Given the description of an element on the screen output the (x, y) to click on. 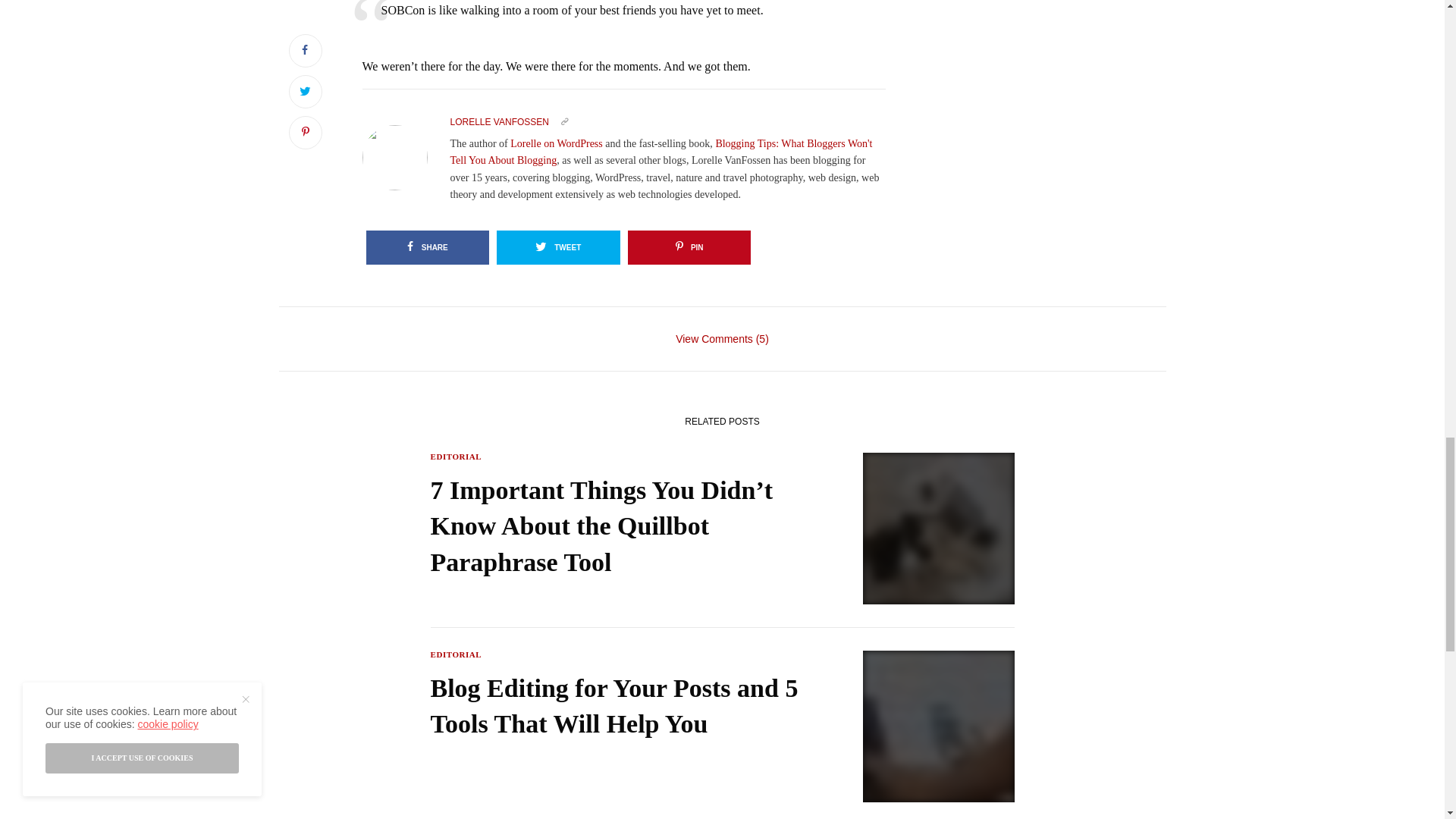
Blog Herald Bookstore - Blogging Tips Book (660, 152)
LORELLE VANFOSSEN (499, 121)
Lorelle on WordPress (556, 143)
Lorelle on WordPress (556, 143)
Blogging Tips: What Bloggers Won't Tell You About Blogging (660, 152)
